Given the description of an element on the screen output the (x, y) to click on. 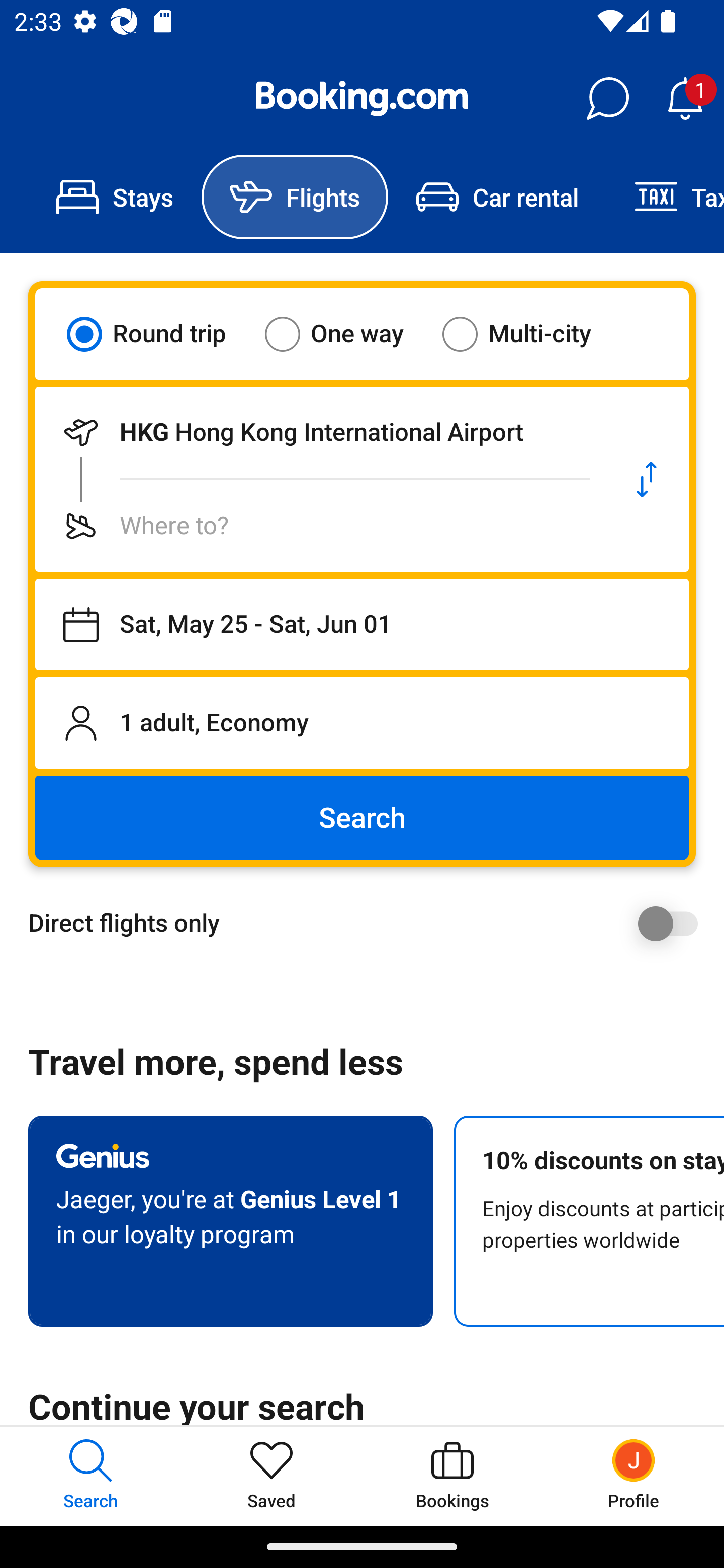
Messages (607, 98)
Notifications (685, 98)
Stays (114, 197)
Flights (294, 197)
Car rental (497, 197)
Taxi (665, 197)
One way (346, 333)
Multi-city (528, 333)
Departing from HKG Hong Kong International Airport (319, 432)
Swap departure location and destination (646, 479)
Flying to  (319, 525)
Departing on Sat, May 25, returning on Sat, Jun 01 (361, 624)
1 adult, Economy (361, 722)
Search (361, 818)
Direct flights only (369, 923)
Saved (271, 1475)
Bookings (452, 1475)
Profile (633, 1475)
